Given the description of an element on the screen output the (x, y) to click on. 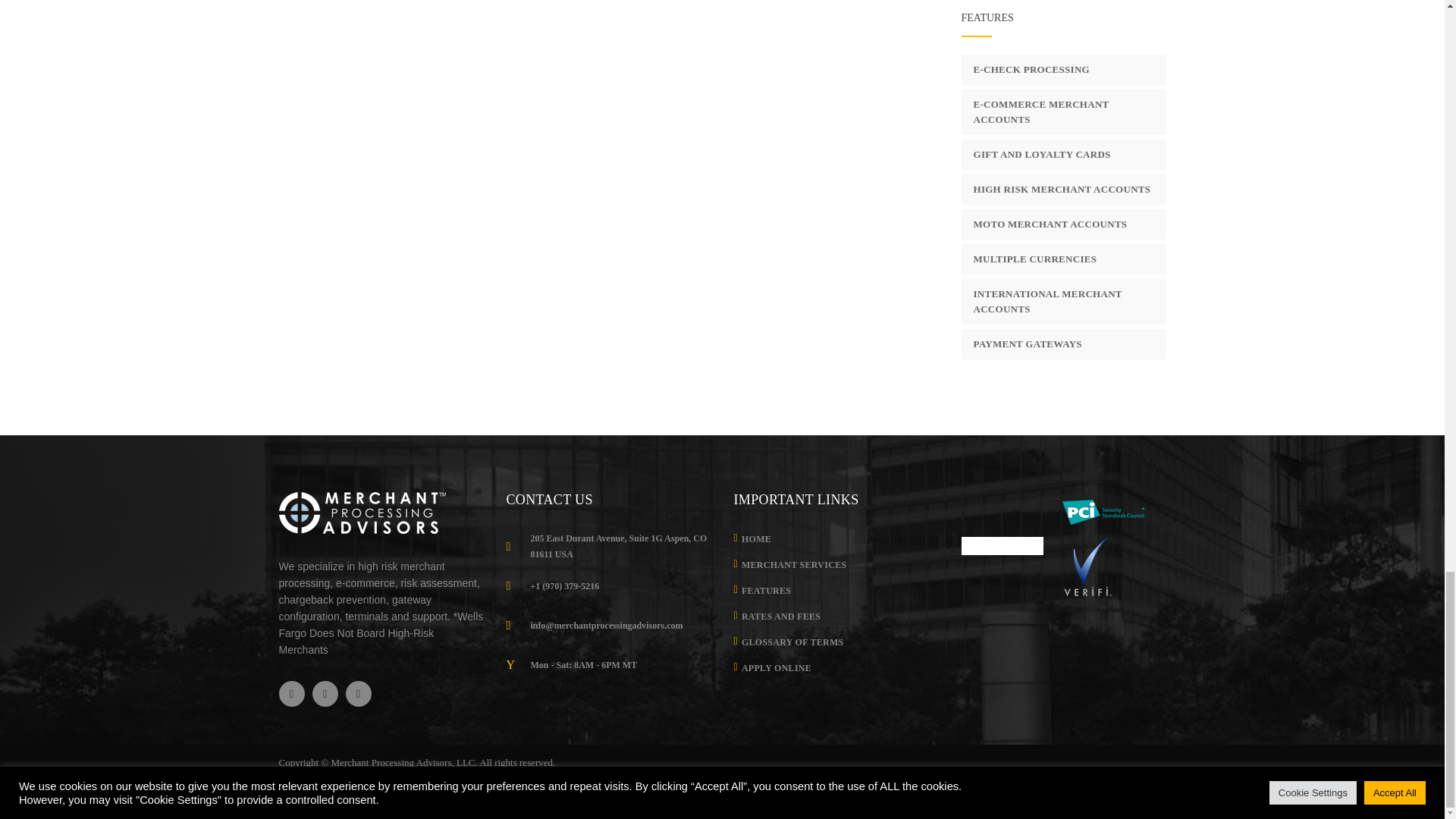
Merchant Processing Advisors BBB Business Review (1001, 546)
